Given the description of an element on the screen output the (x, y) to click on. 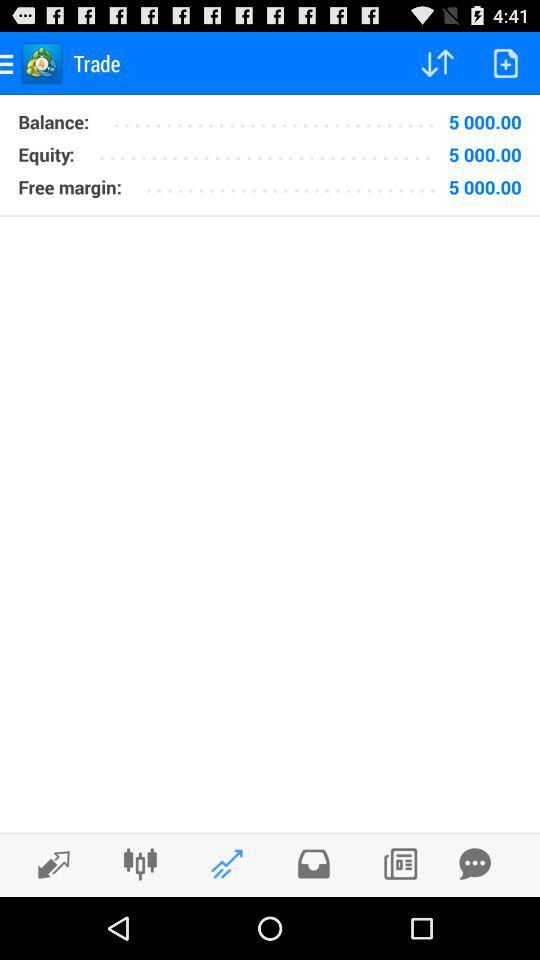
toggle trades (400, 863)
